Given the description of an element on the screen output the (x, y) to click on. 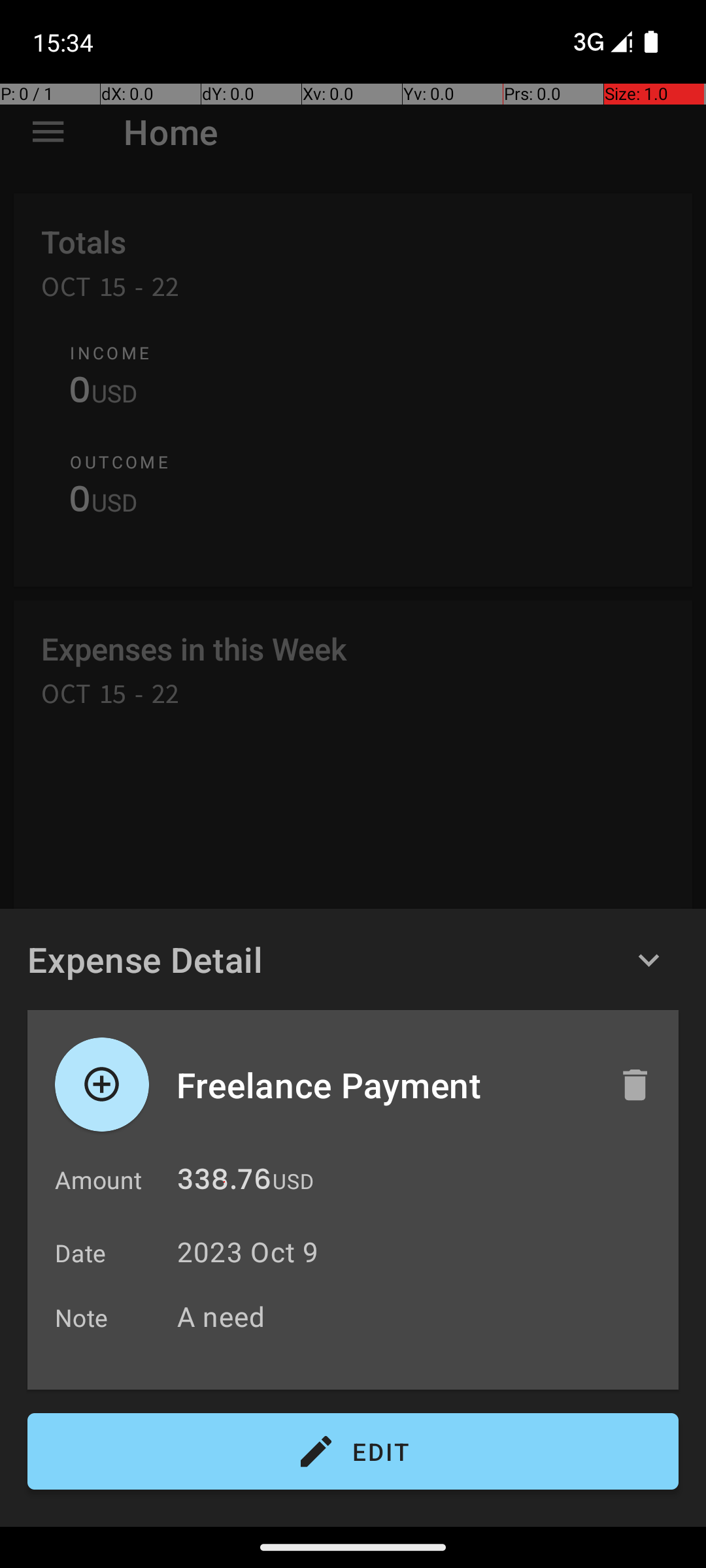
338.76 Element type: android.widget.TextView (223, 1182)
